Given the description of an element on the screen output the (x, y) to click on. 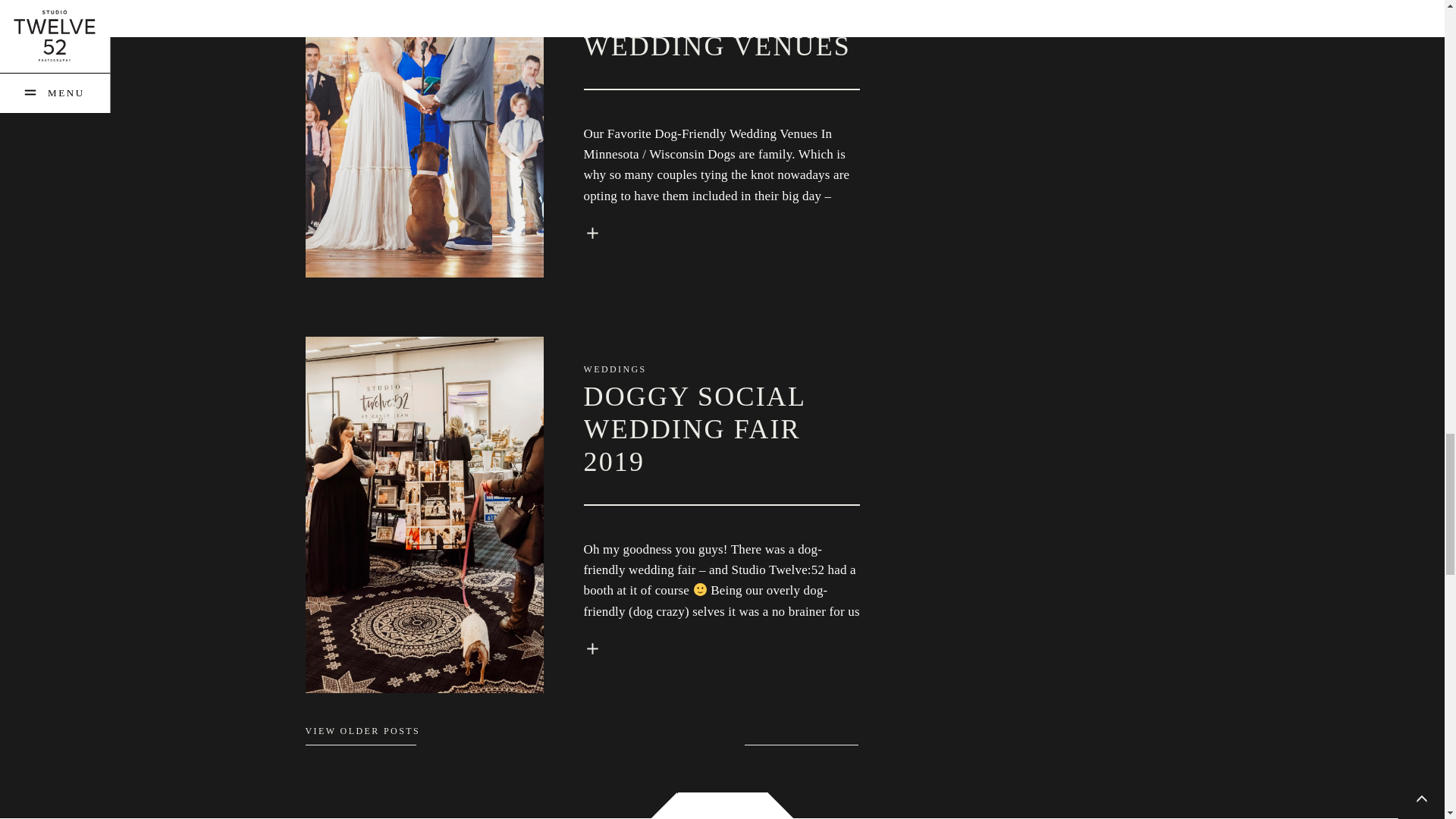
WEDDINGS (614, 368)
DOGGY SOCIAL WEDDING FAIR 2019 (694, 428)
Doggy Social Wedding Fair 2019 (592, 648)
VIEW OLDER POSTS (362, 730)
